Given the description of an element on the screen output the (x, y) to click on. 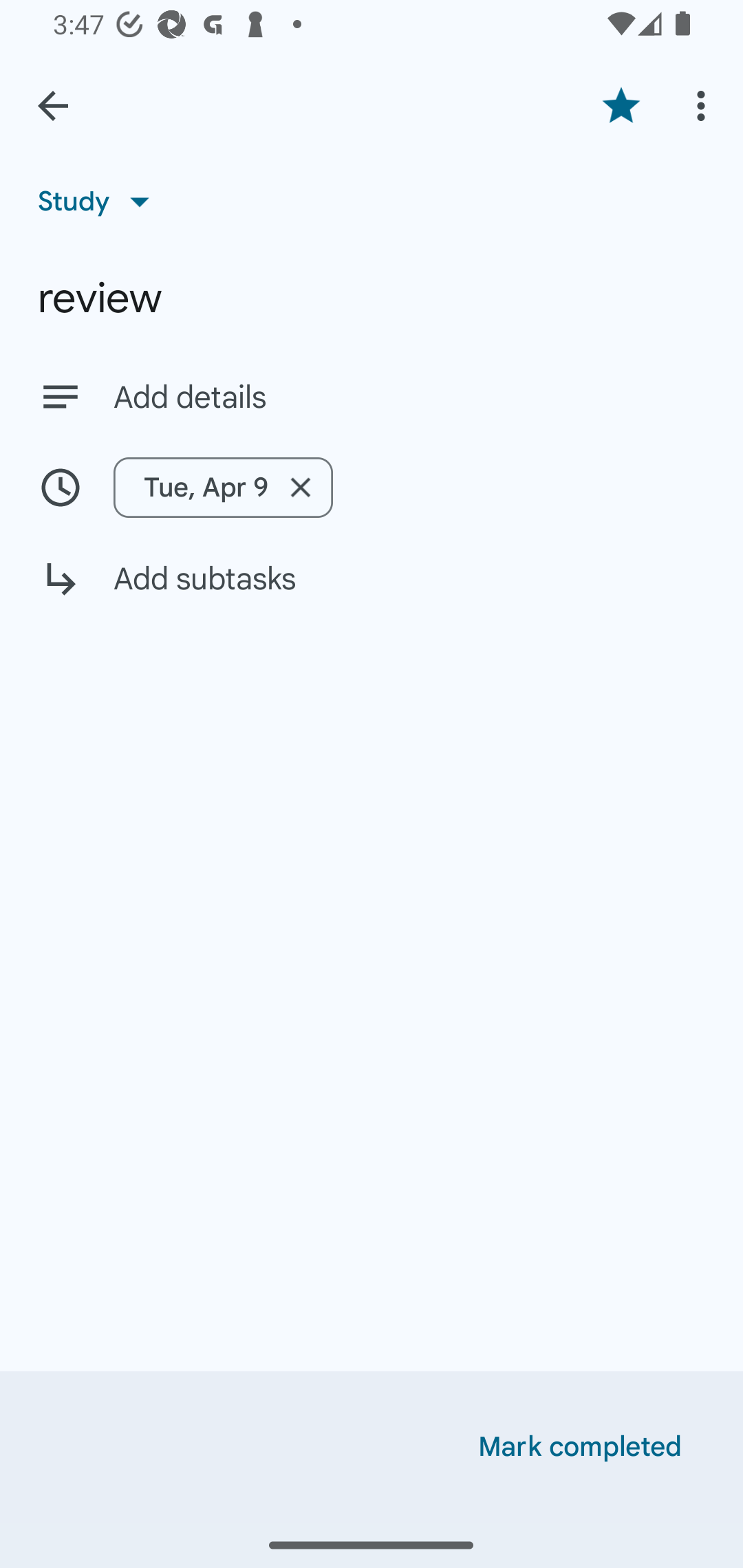
Back (53, 105)
Remove star (620, 105)
More options (704, 105)
Study List, Study selected, 1 of 11 (99, 201)
review (371, 298)
Add details (371, 396)
Add details (409, 397)
Tue, Apr 9 Remove date/time (371, 487)
Tue, Apr 9 Remove date/time (222, 487)
Add subtasks (371, 593)
Mark completed (580, 1446)
